Given the description of an element on the screen output the (x, y) to click on. 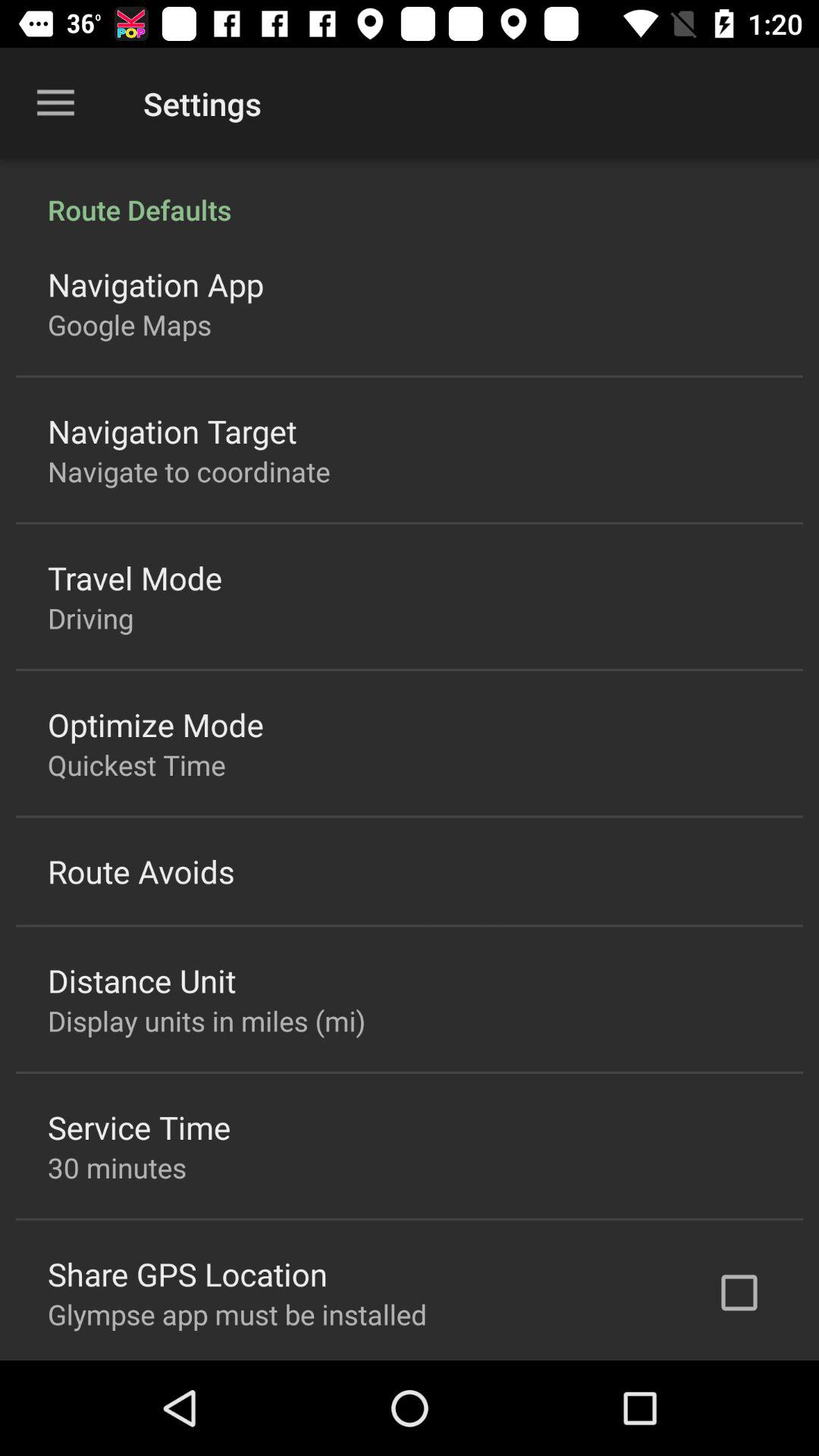
tap the item below google maps icon (171, 430)
